Given the description of an element on the screen output the (x, y) to click on. 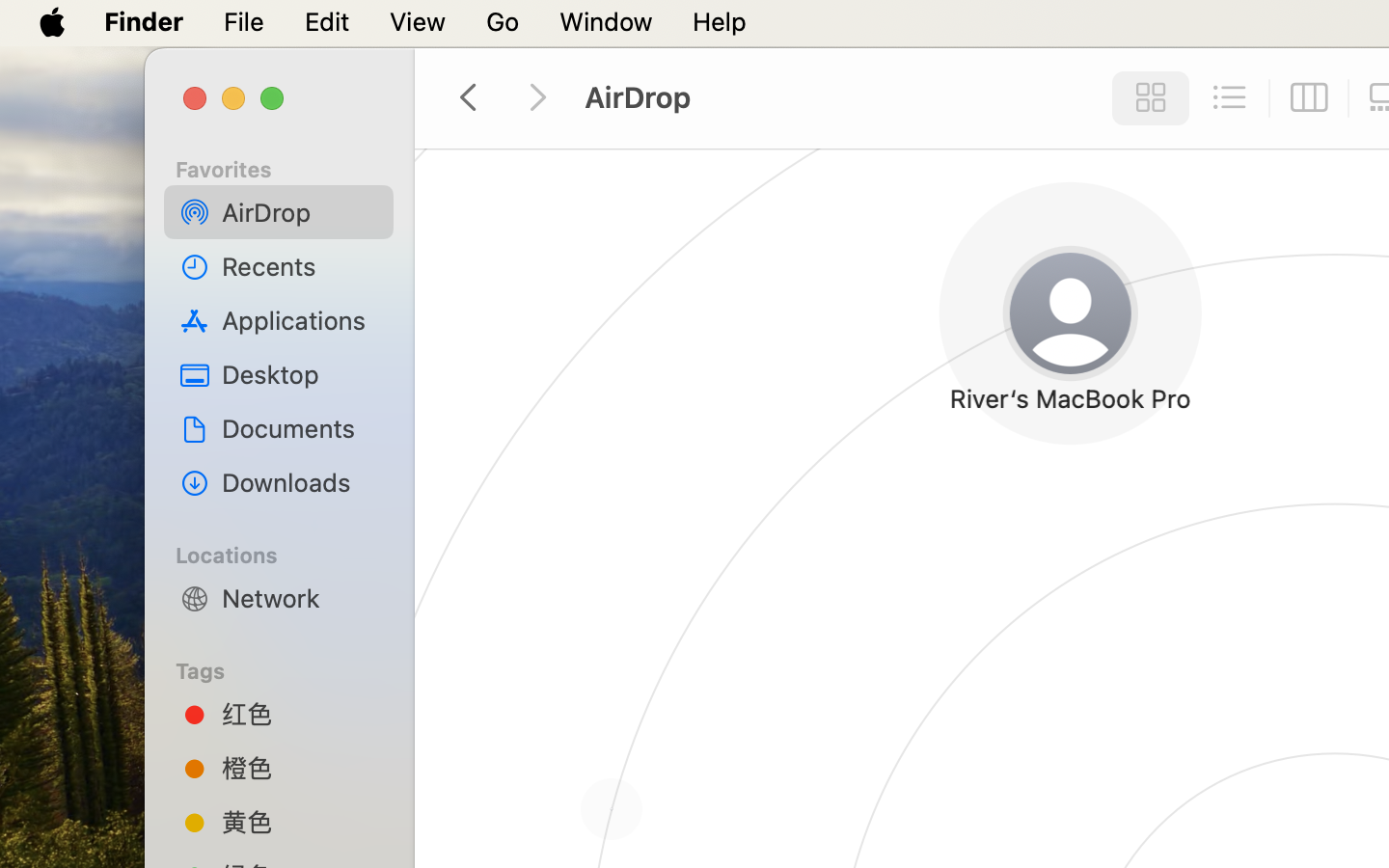
Applications Element type: AXStaticText (299, 319)
AirDrop Element type: AXStaticText (299, 211)
Downloads Element type: AXStaticText (299, 481)
River‘s MacBook Pro Element type: AXStaticText (1018, 408)
1 Element type: AXRadioButton (1144, 97)
